Given the description of an element on the screen output the (x, y) to click on. 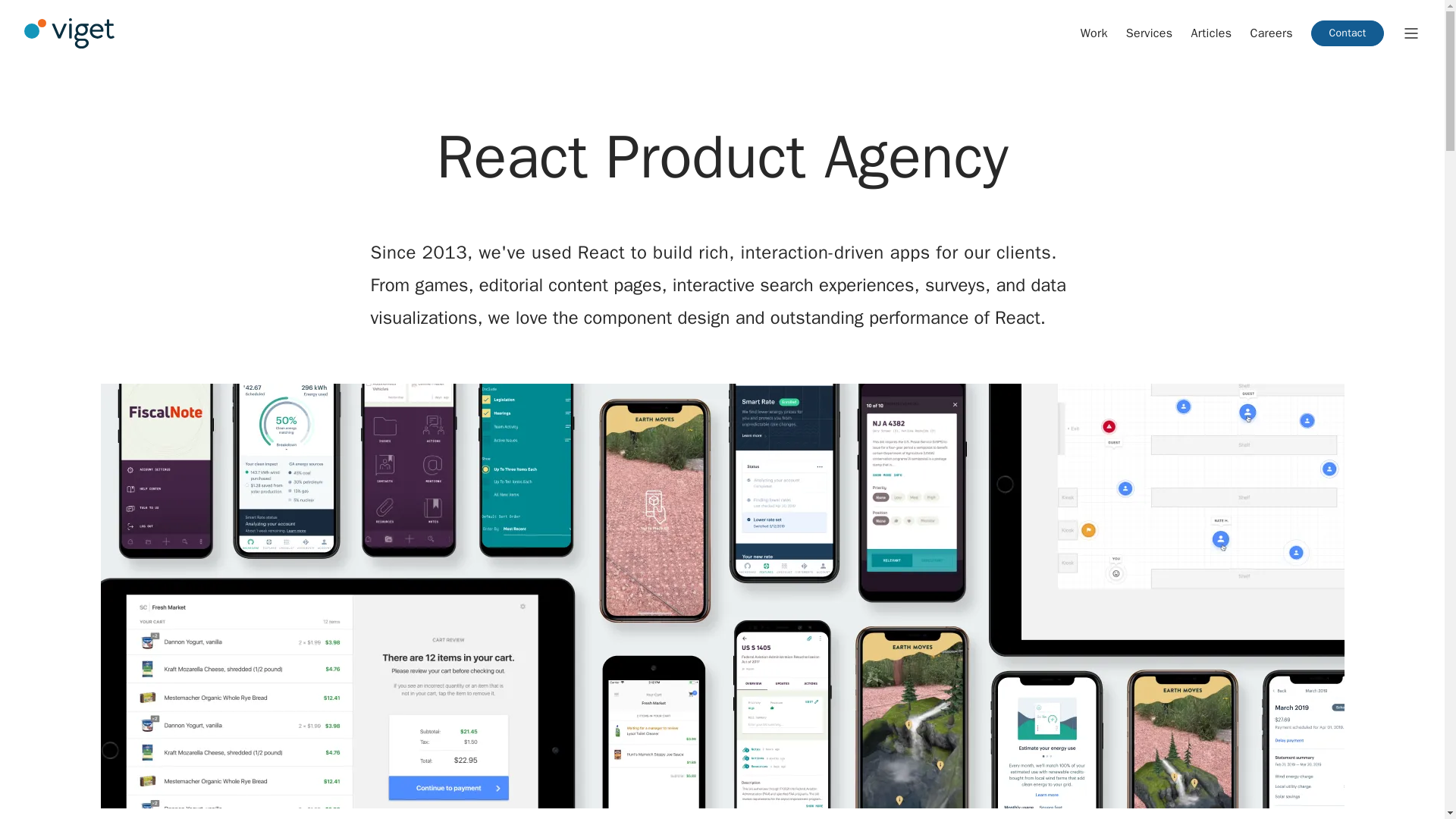
Articles (1211, 32)
Contact (1347, 32)
Services (1149, 32)
Work (1094, 32)
Careers (1270, 32)
Viget (69, 33)
Open Menu (1411, 33)
